Given the description of an element on the screen output the (x, y) to click on. 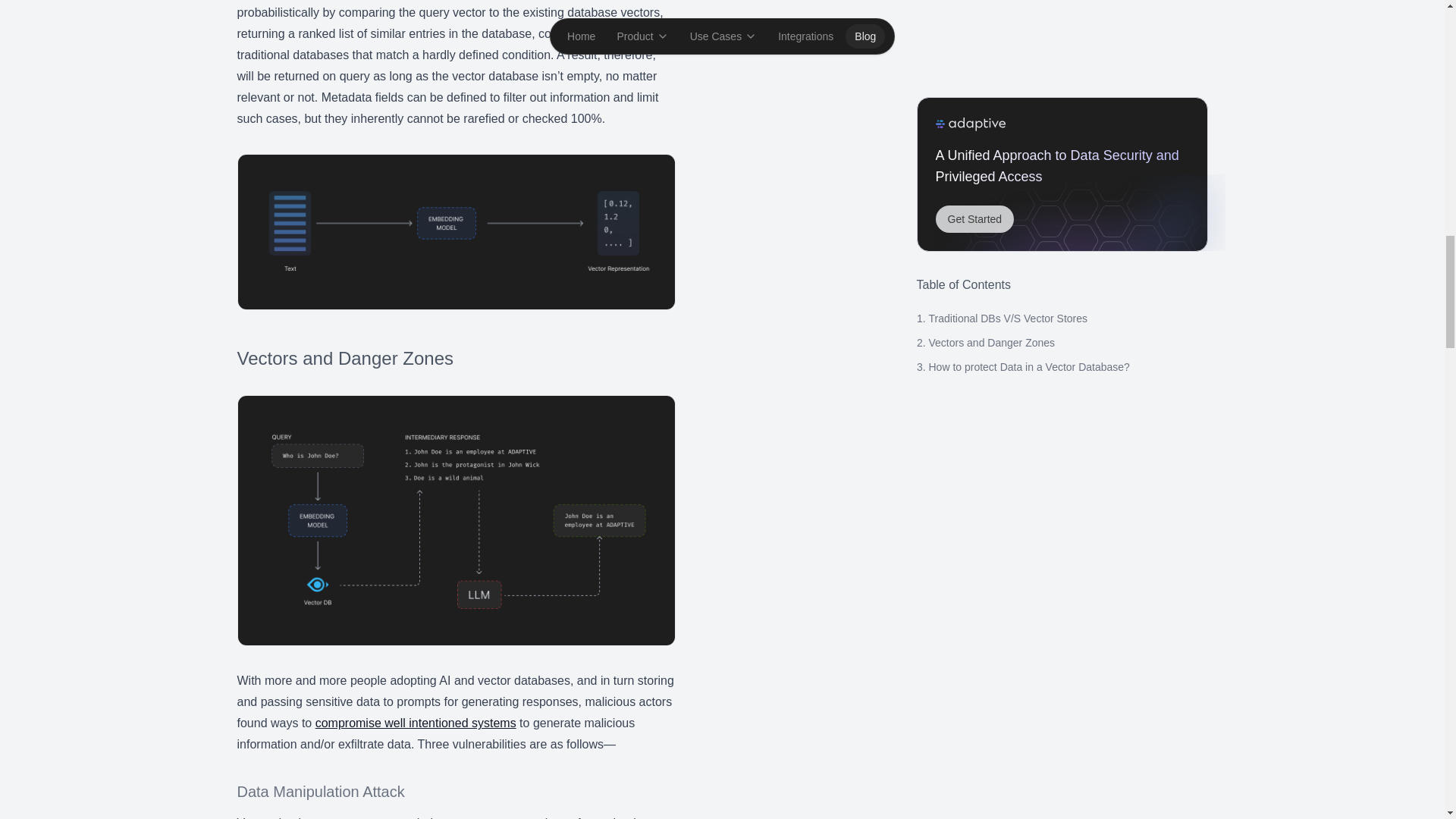
compromise well intentioned systems (415, 722)
